Given the description of an element on the screen output the (x, y) to click on. 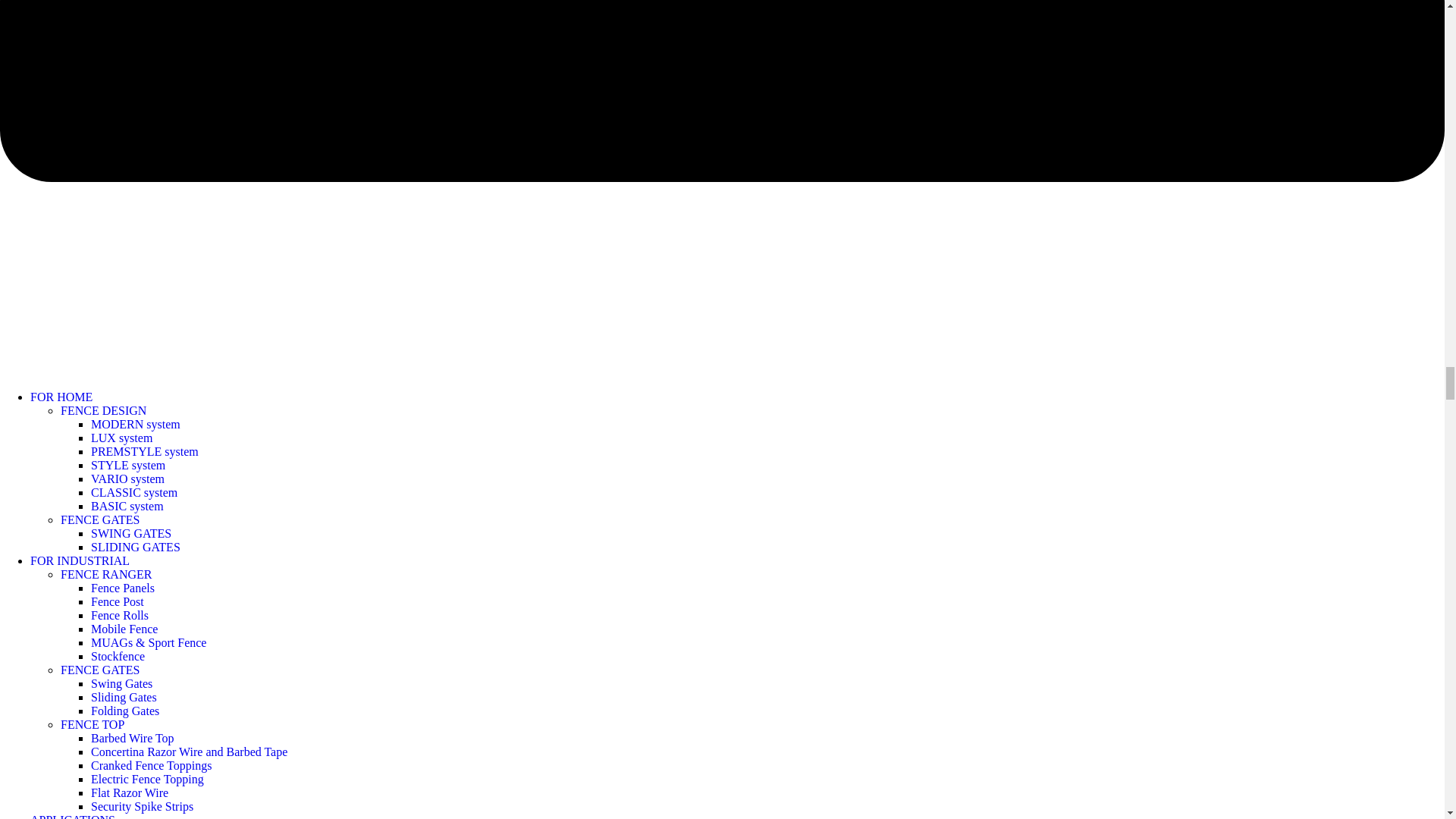
Mobile Fence (123, 628)
Security Spike Strips (141, 806)
Sliding Gates (123, 697)
Electric Fence Topping (146, 779)
FENCE GATES (100, 519)
FENCE GATES (100, 669)
STYLE system (127, 464)
Concertina Razor Wire and Barbed Tape (188, 751)
Swing Gates (121, 683)
VARIO system (127, 478)
Fence Panels (122, 587)
BASIC system (126, 505)
SLIDING GATES (135, 546)
Stockfence (117, 656)
PREMSTYLE system (144, 451)
